Given the description of an element on the screen output the (x, y) to click on. 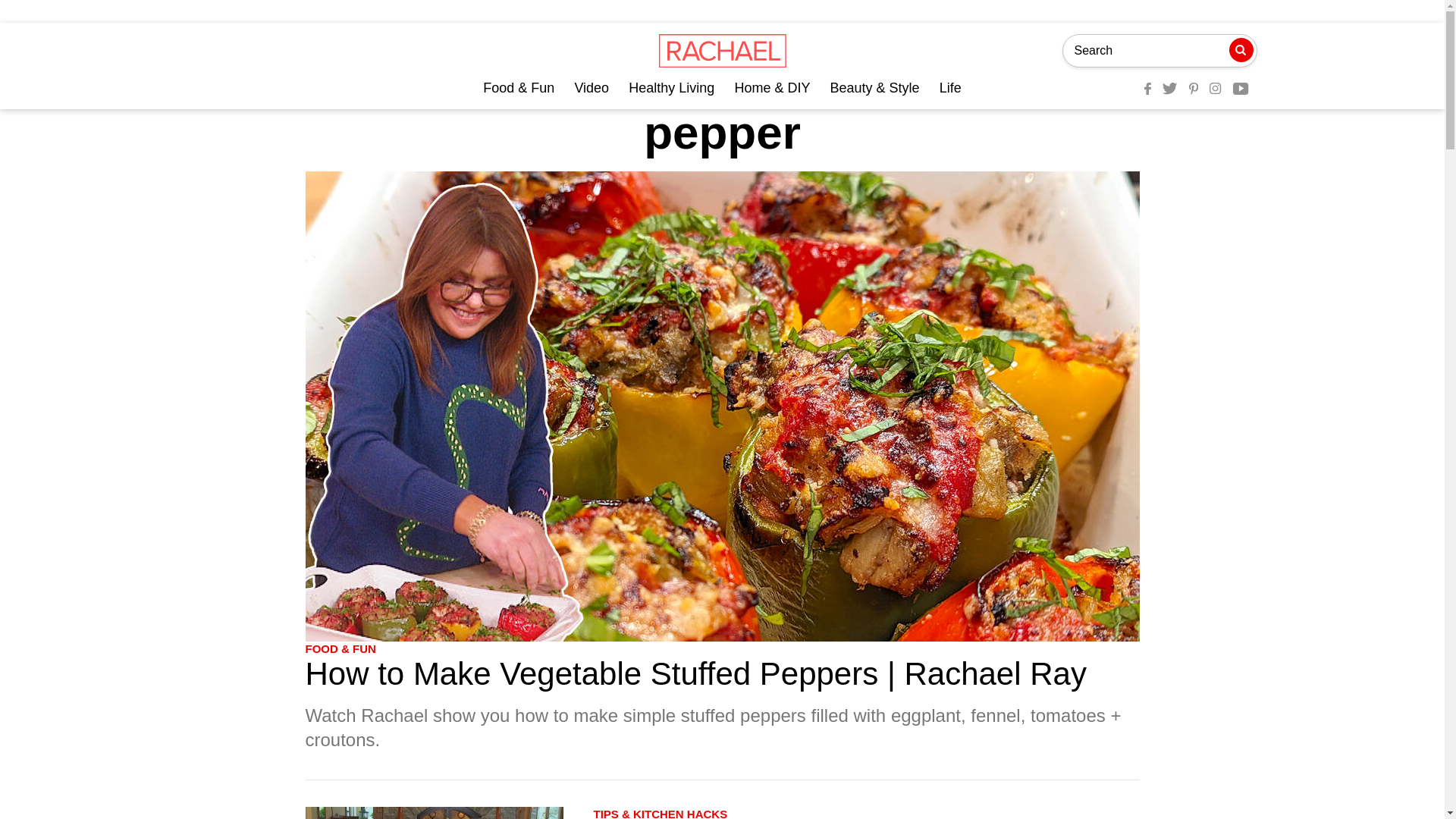
Healthy Living (671, 87)
Life (950, 87)
Video (590, 87)
